Given the description of an element on the screen output the (x, y) to click on. 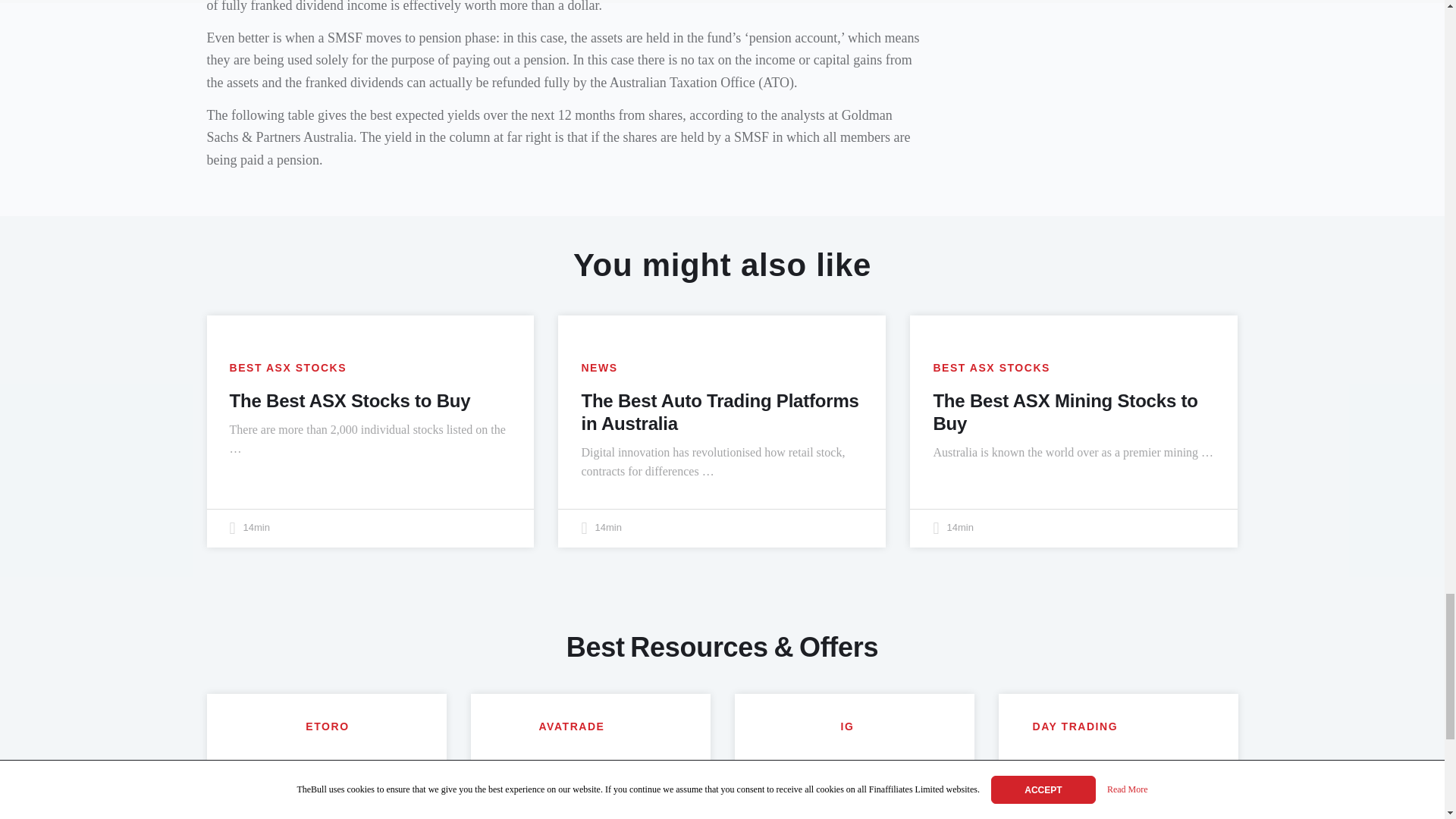
The Best ASX Stocks to Buy (349, 400)
BEST ASX STOCKS (287, 367)
NEWS (598, 367)
BEST ASX STOCKS (991, 367)
The Best Auto Trading Platforms in Australia (719, 412)
